Given the description of an element on the screen output the (x, y) to click on. 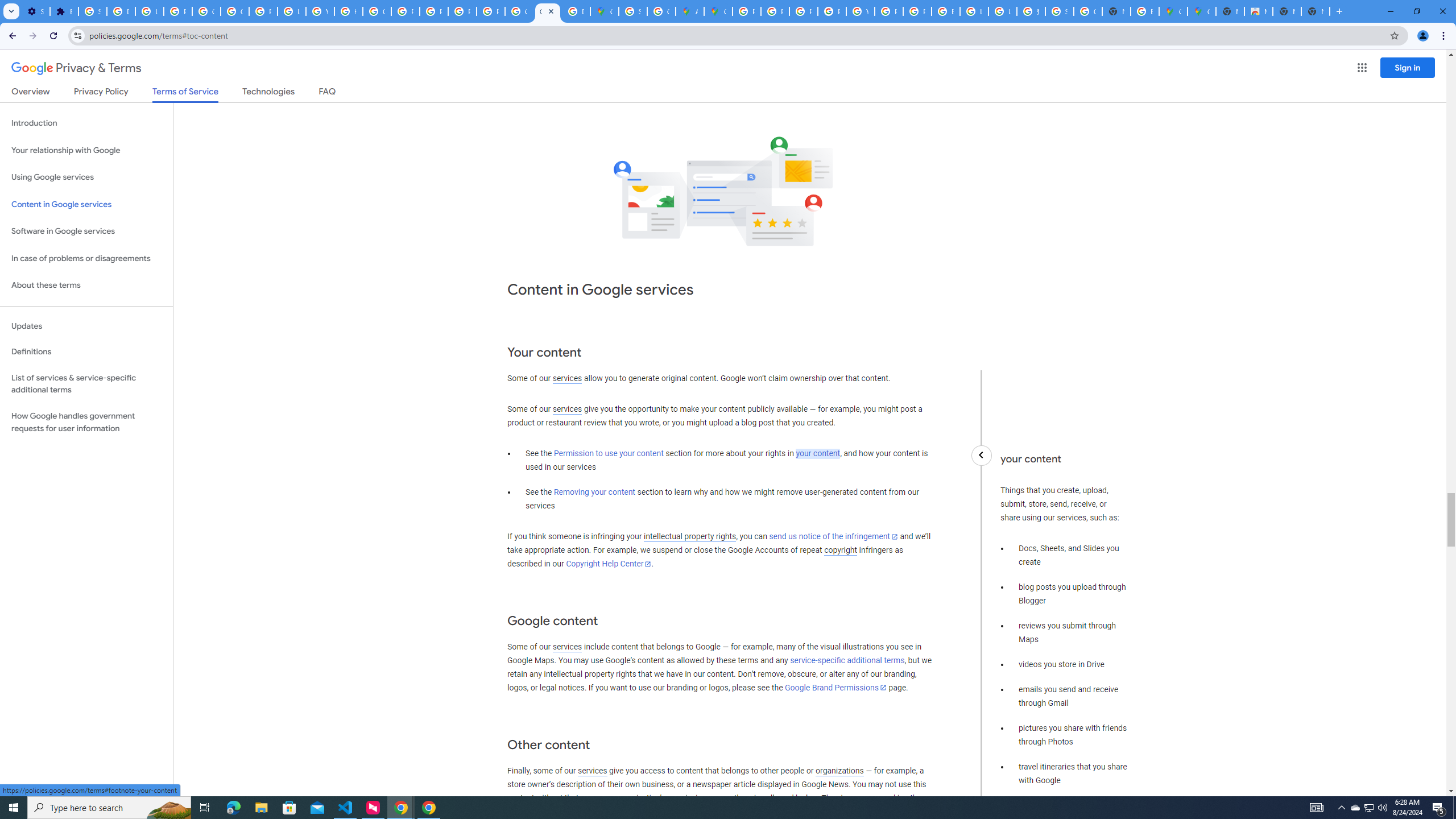
List of services & service-specific additional terms (86, 383)
Permission to use your content (608, 453)
Privacy Help Center - Policies Help (405, 11)
New Tab (1315, 11)
Content in Google services (86, 204)
organizations (839, 770)
